Given the description of an element on the screen output the (x, y) to click on. 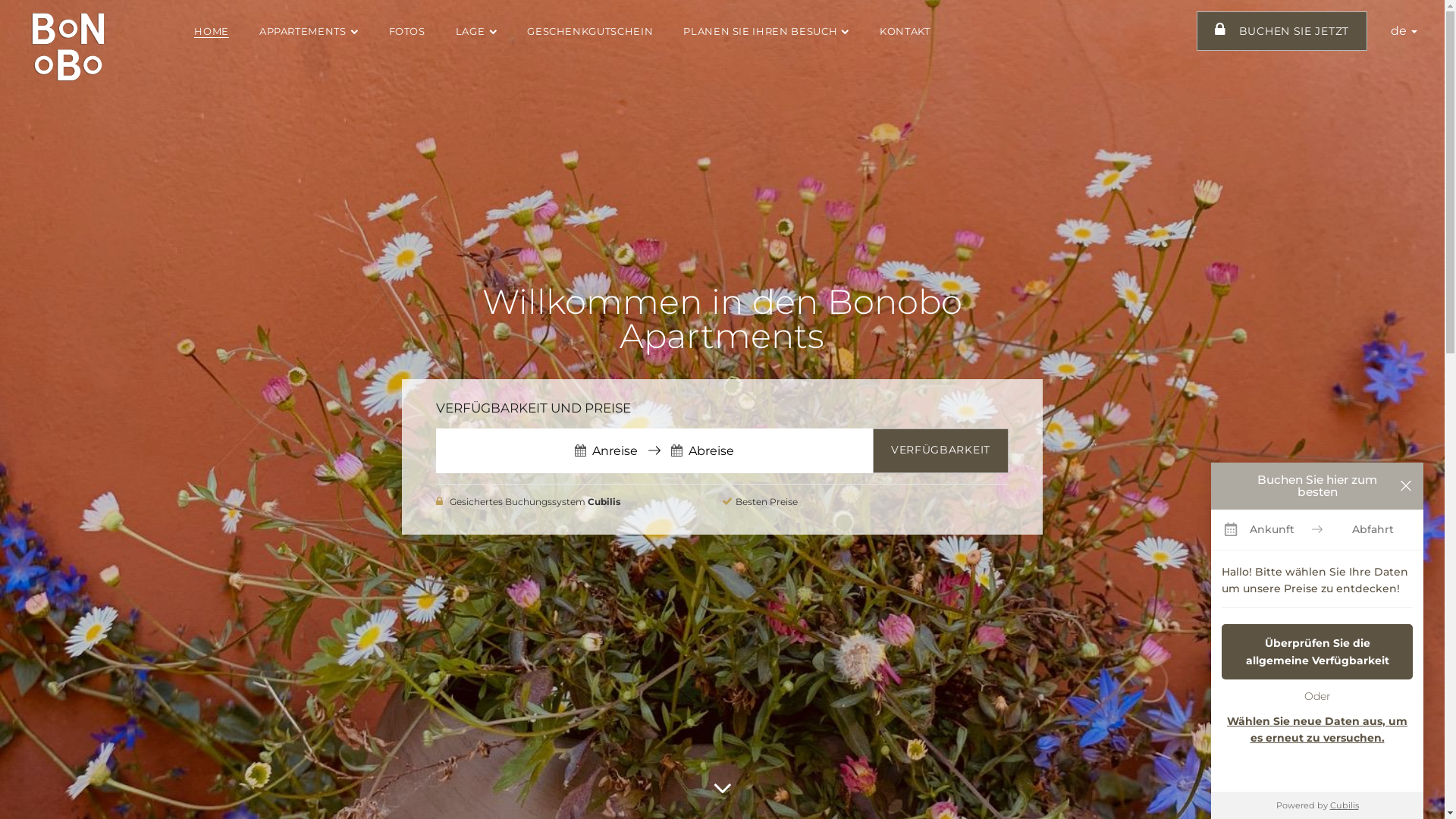
PLANEN SIE IHREN BESUCH Element type: text (766, 30)
de Element type: text (1403, 30)
GESCHENKGUTSCHEIN Element type: text (589, 30)
KONTAKT Element type: text (904, 30)
APPARTEMENTS Element type: text (308, 30)
LAGE Element type: text (475, 30)
Cubilis Element type: text (603, 501)
BUCHEN SIE JETZT Element type: text (1281, 30)
Bonobo Apartments Element type: hover (68, 46)
FOTOS Element type: text (407, 30)
HOME Element type: text (211, 30)
Cubilis Element type: text (1344, 805)
